Given the description of an element on the screen output the (x, y) to click on. 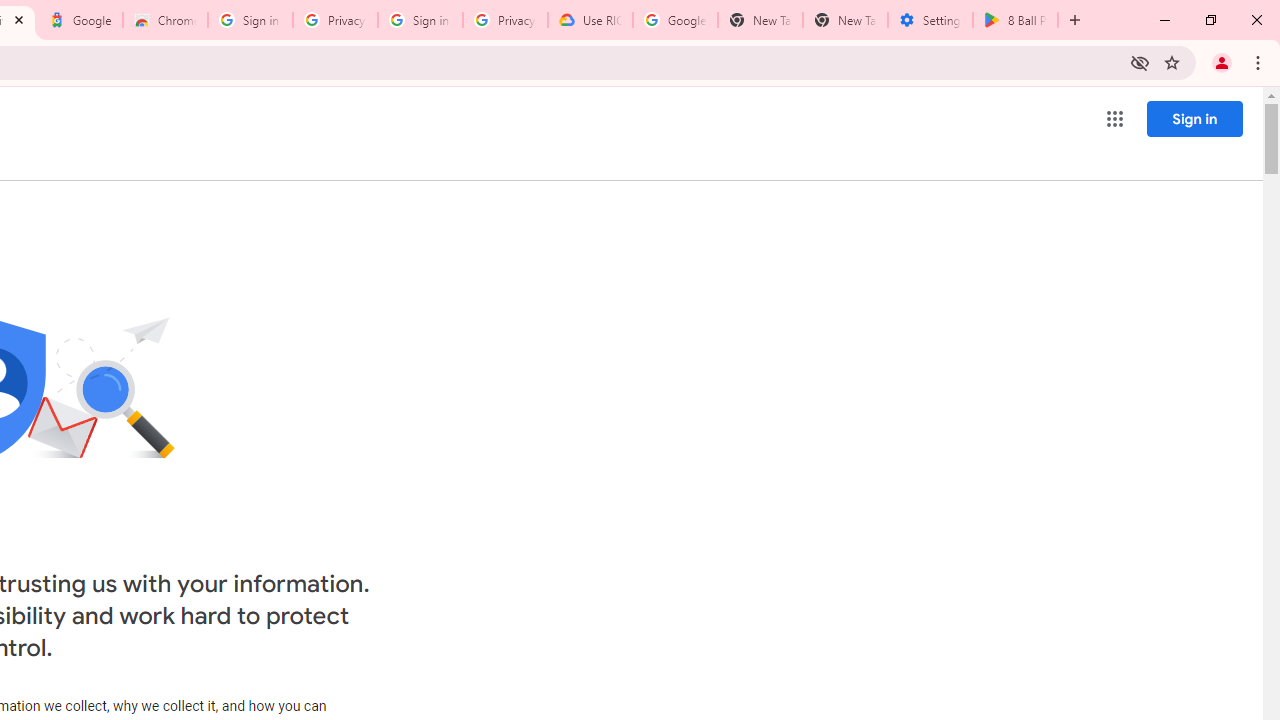
Sign in - Google Accounts (420, 20)
Sign in - Google Accounts (250, 20)
Settings - System (930, 20)
Google (80, 20)
Chrome Web Store - Color themes by Chrome (165, 20)
